Given the description of an element on the screen output the (x, y) to click on. 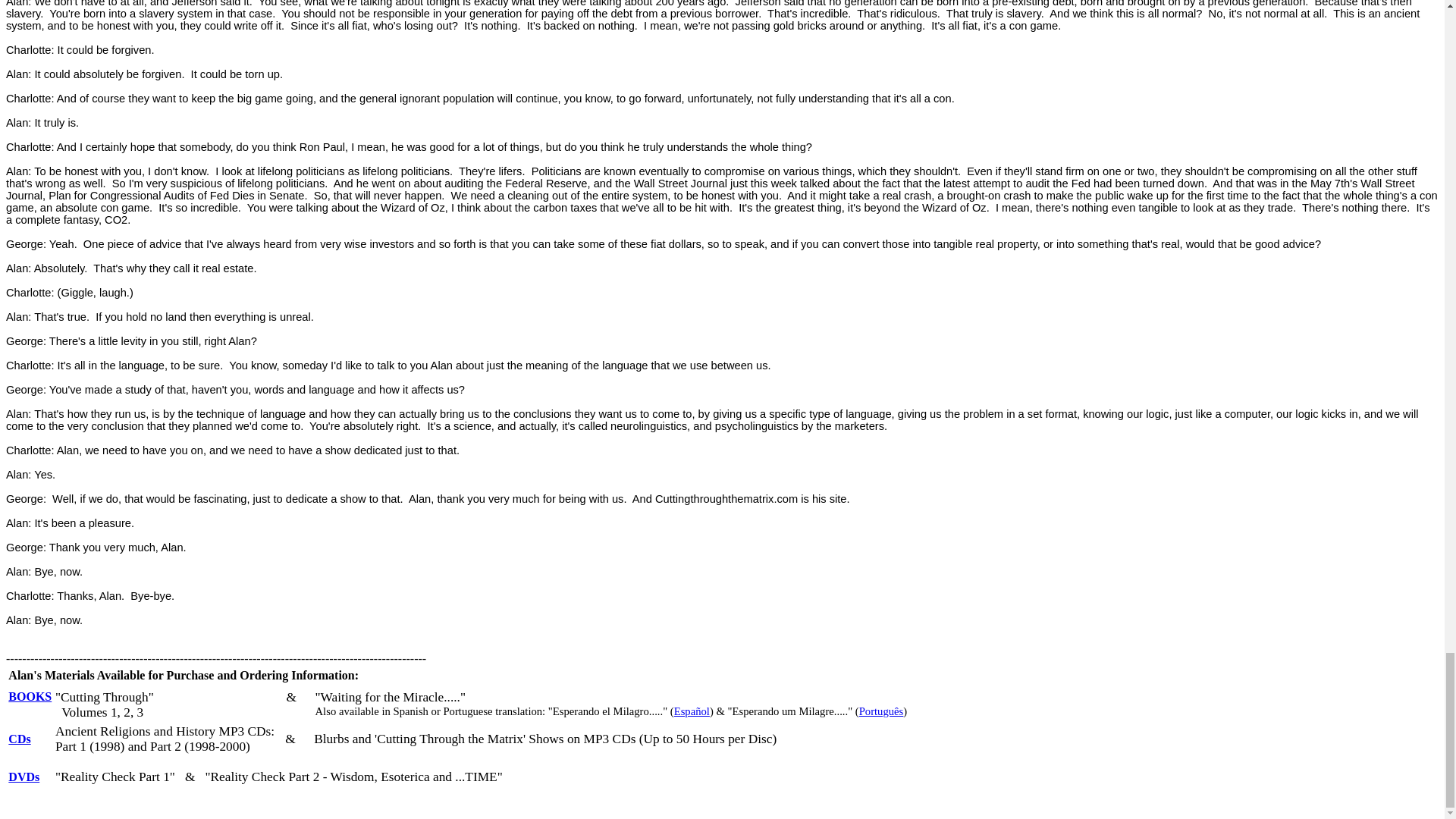
BOOKS (29, 696)
CDs (19, 738)
DVDs (23, 776)
